Given the description of an element on the screen output the (x, y) to click on. 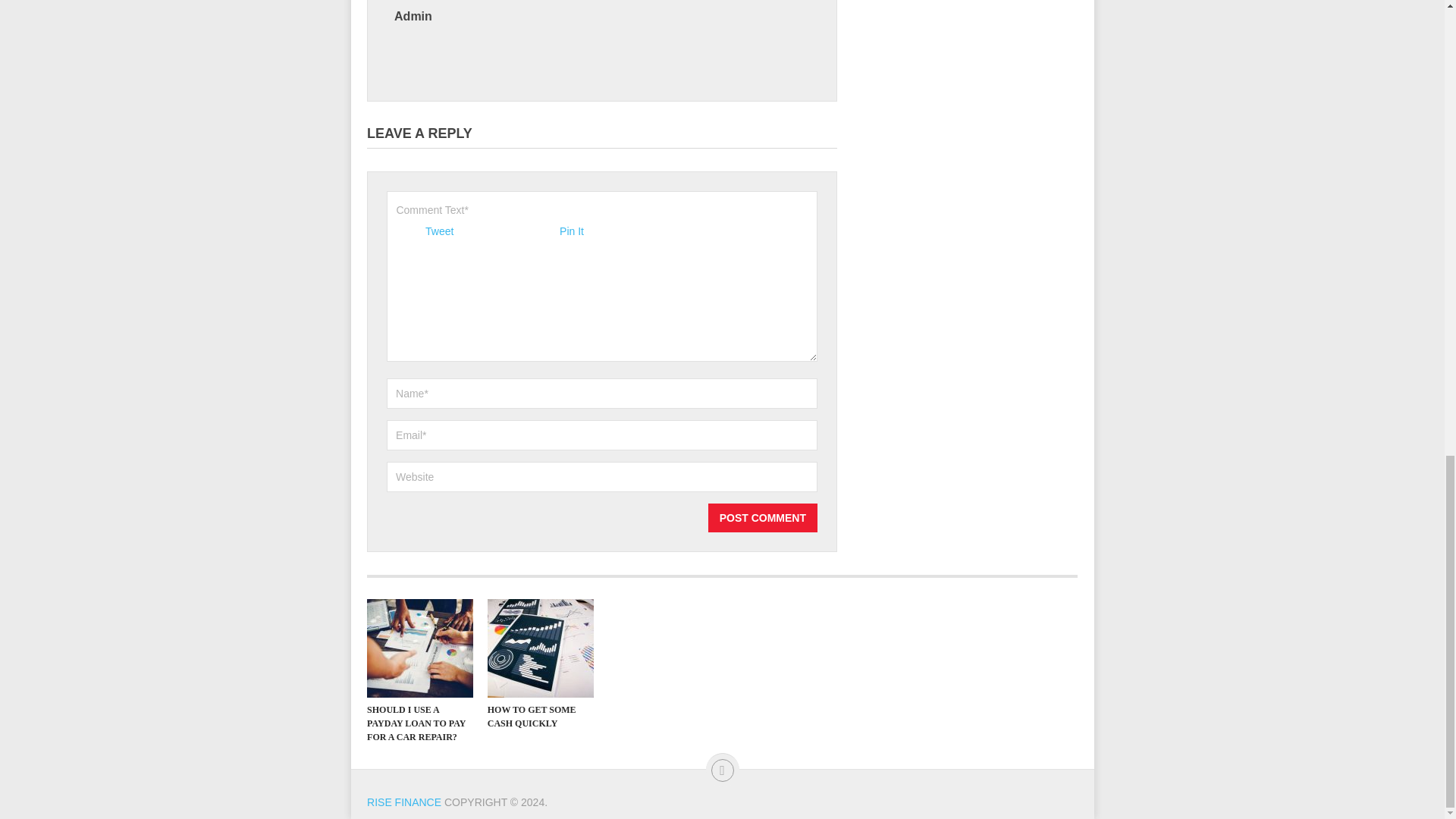
Post Comment (761, 517)
Post Comment (761, 517)
Admin (413, 15)
RISE FINANCE (403, 802)
